Given the description of an element on the screen output the (x, y) to click on. 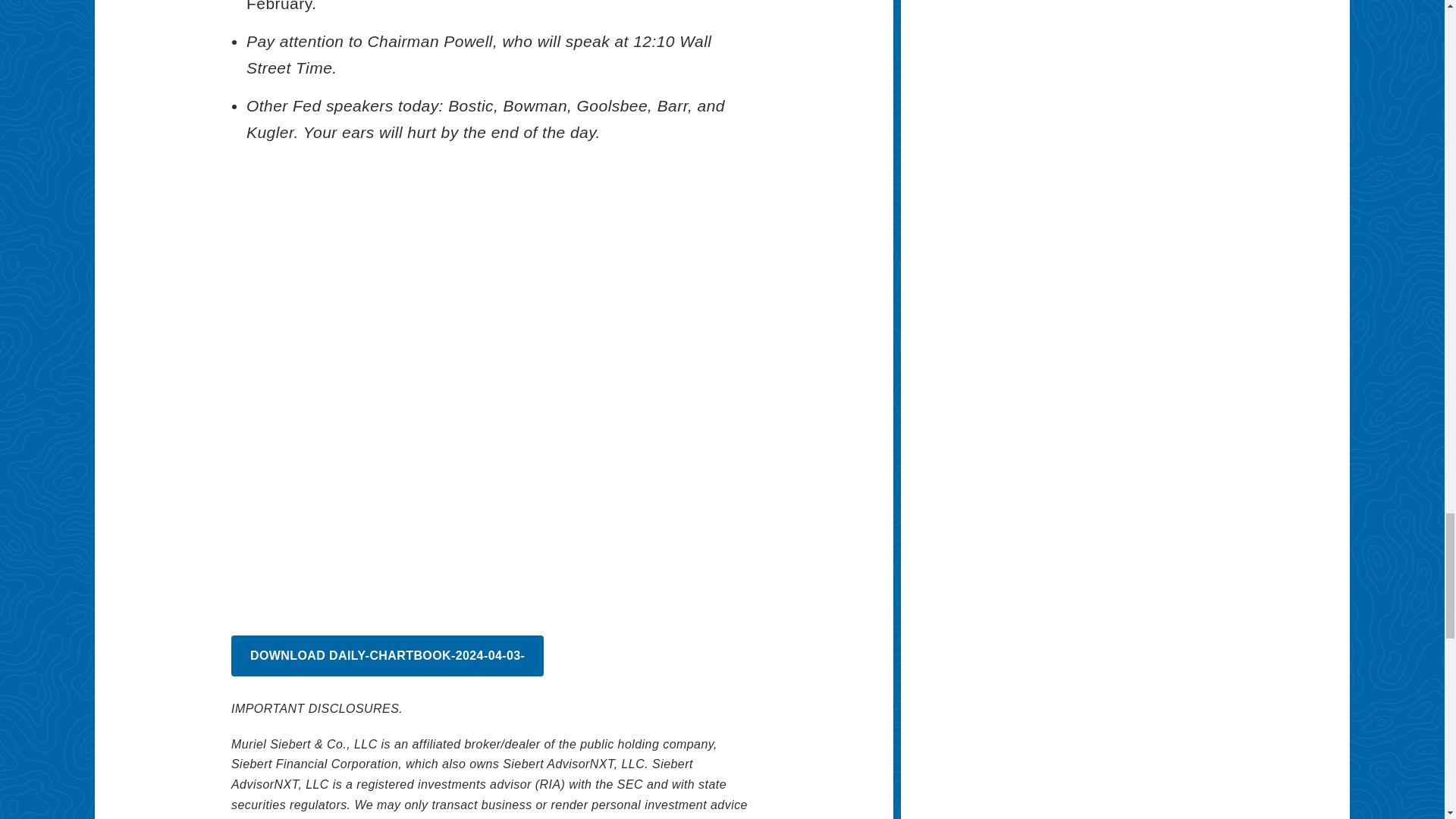
DAILY-CHARTBOOK-2024-04-03- (387, 655)
